Given the description of an element on the screen output the (x, y) to click on. 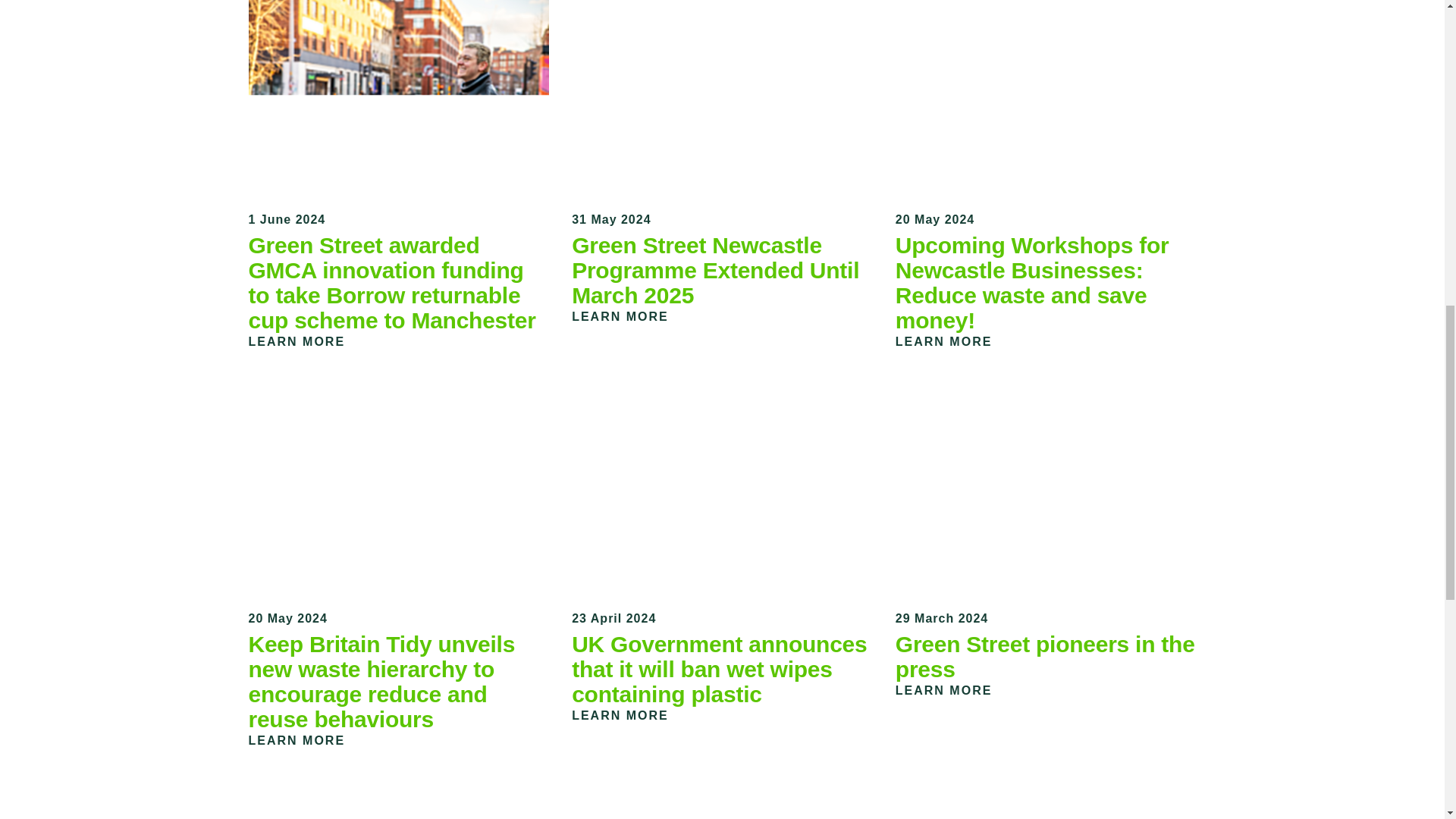
LEARN MORE (952, 341)
LEARN MORE (952, 689)
LEARN MORE (305, 341)
LEARN MORE (628, 715)
LEARN MORE (628, 316)
LEARN MORE (305, 739)
